Given the description of an element on the screen output the (x, y) to click on. 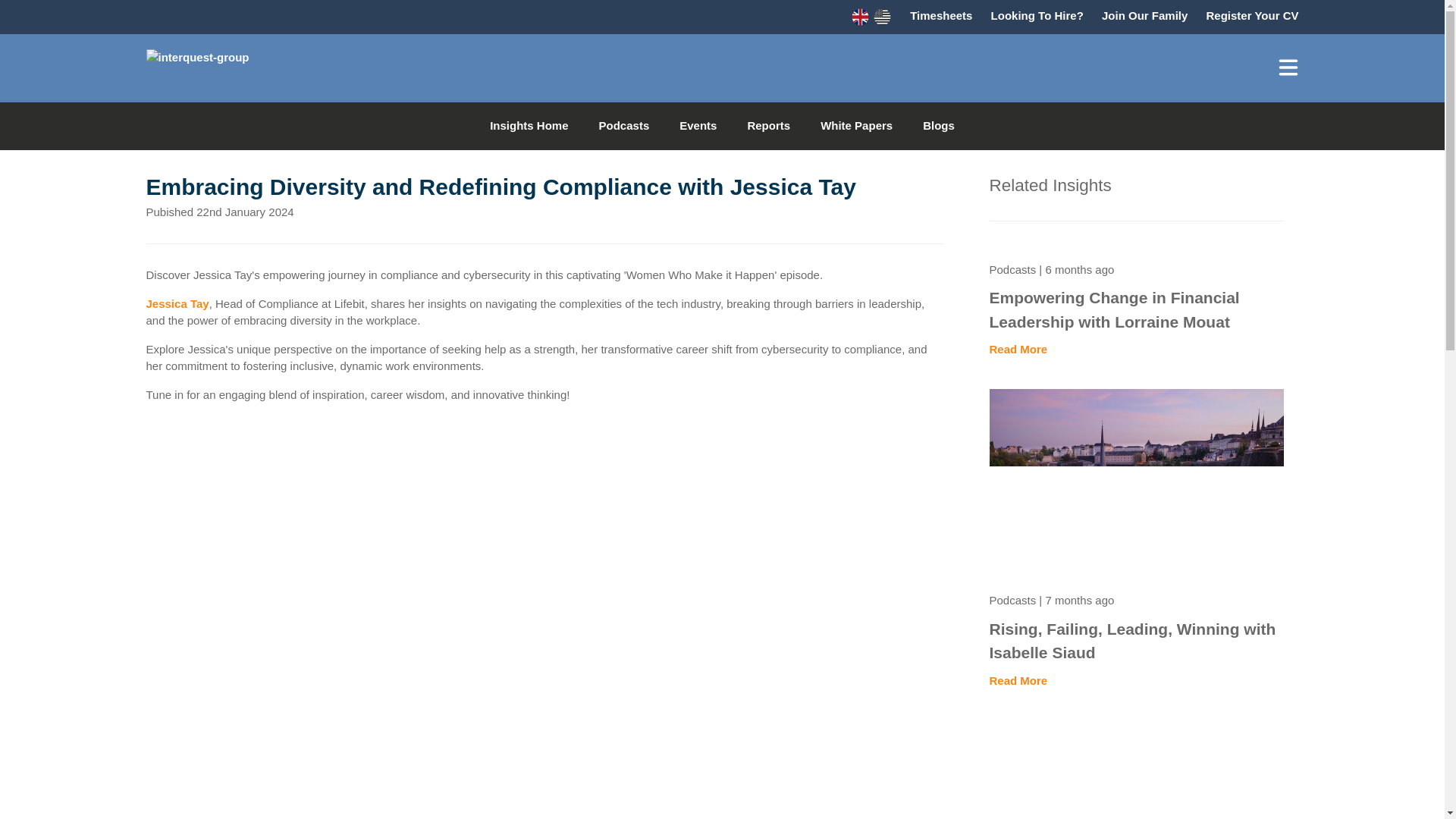
Join Our Family (1145, 15)
Looking To Hire? (1037, 15)
Register Your CV (1252, 15)
Timesheets (941, 15)
